Given the description of an element on the screen output the (x, y) to click on. 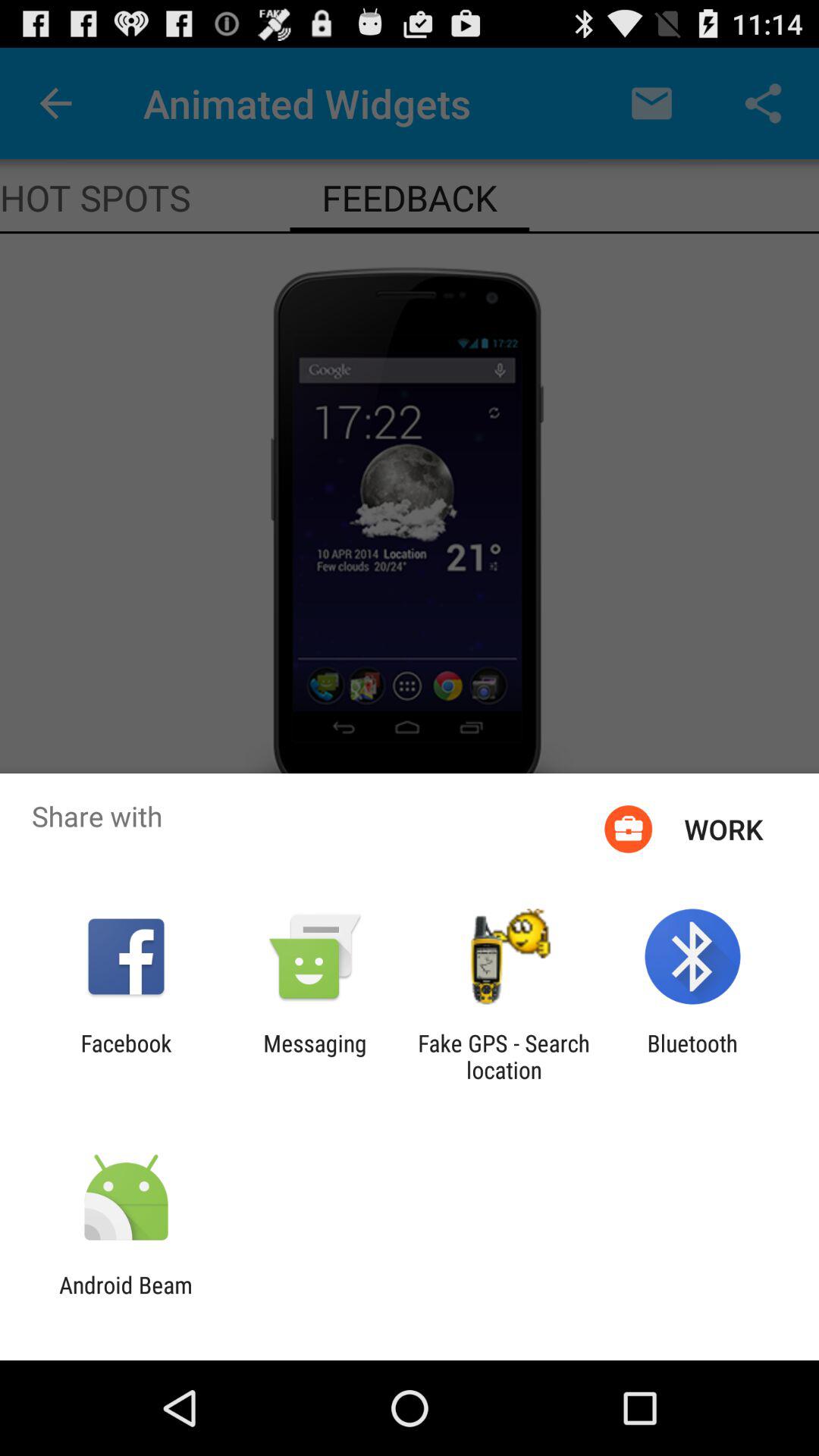
press item to the left of bluetooth icon (503, 1056)
